Given the description of an element on the screen output the (x, y) to click on. 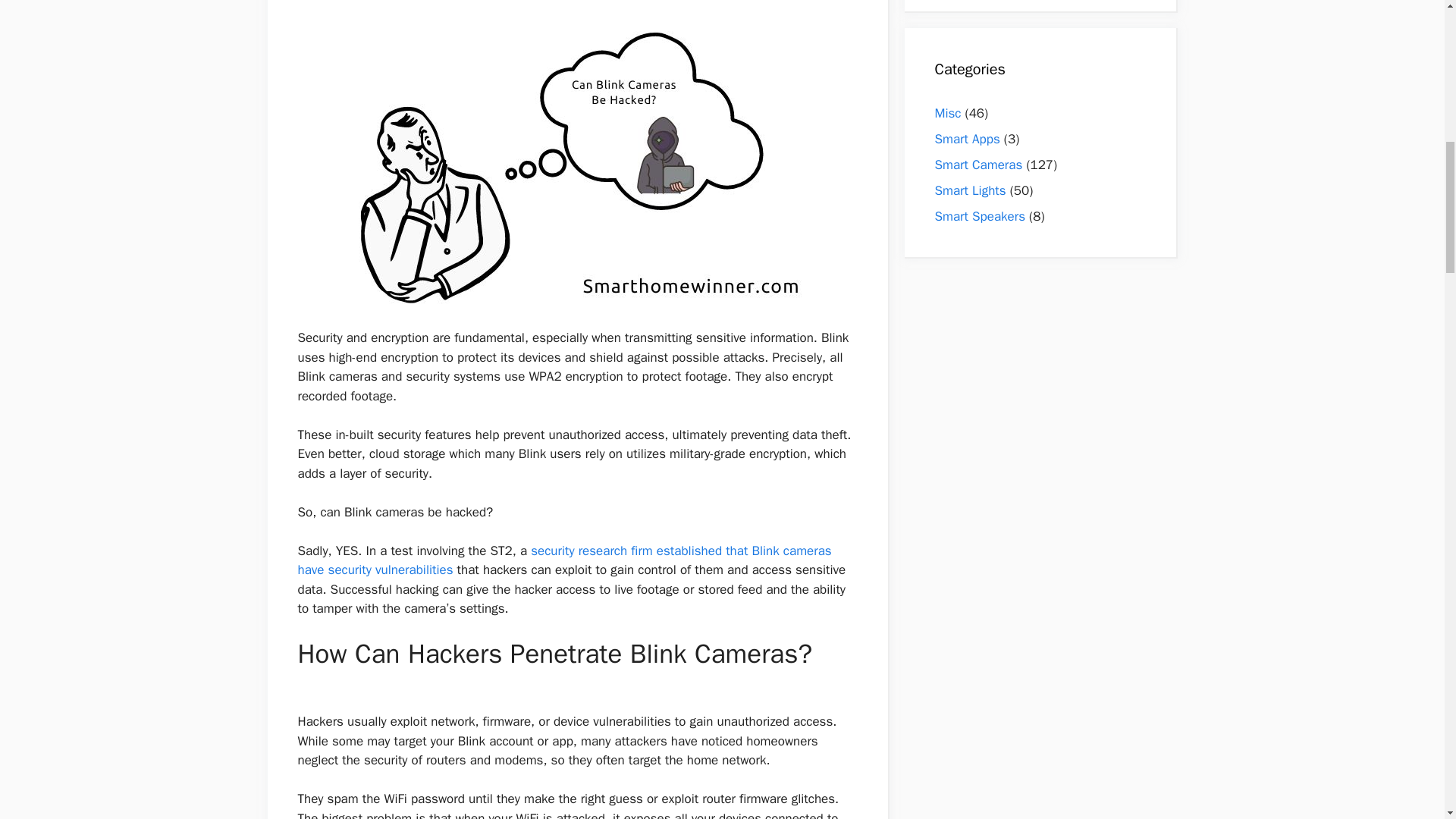
Smart Cameras (978, 164)
Smart Lights (970, 190)
Smart Speakers (979, 216)
Misc (947, 113)
Smart Apps (966, 139)
